Given the description of an element on the screen output the (x, y) to click on. 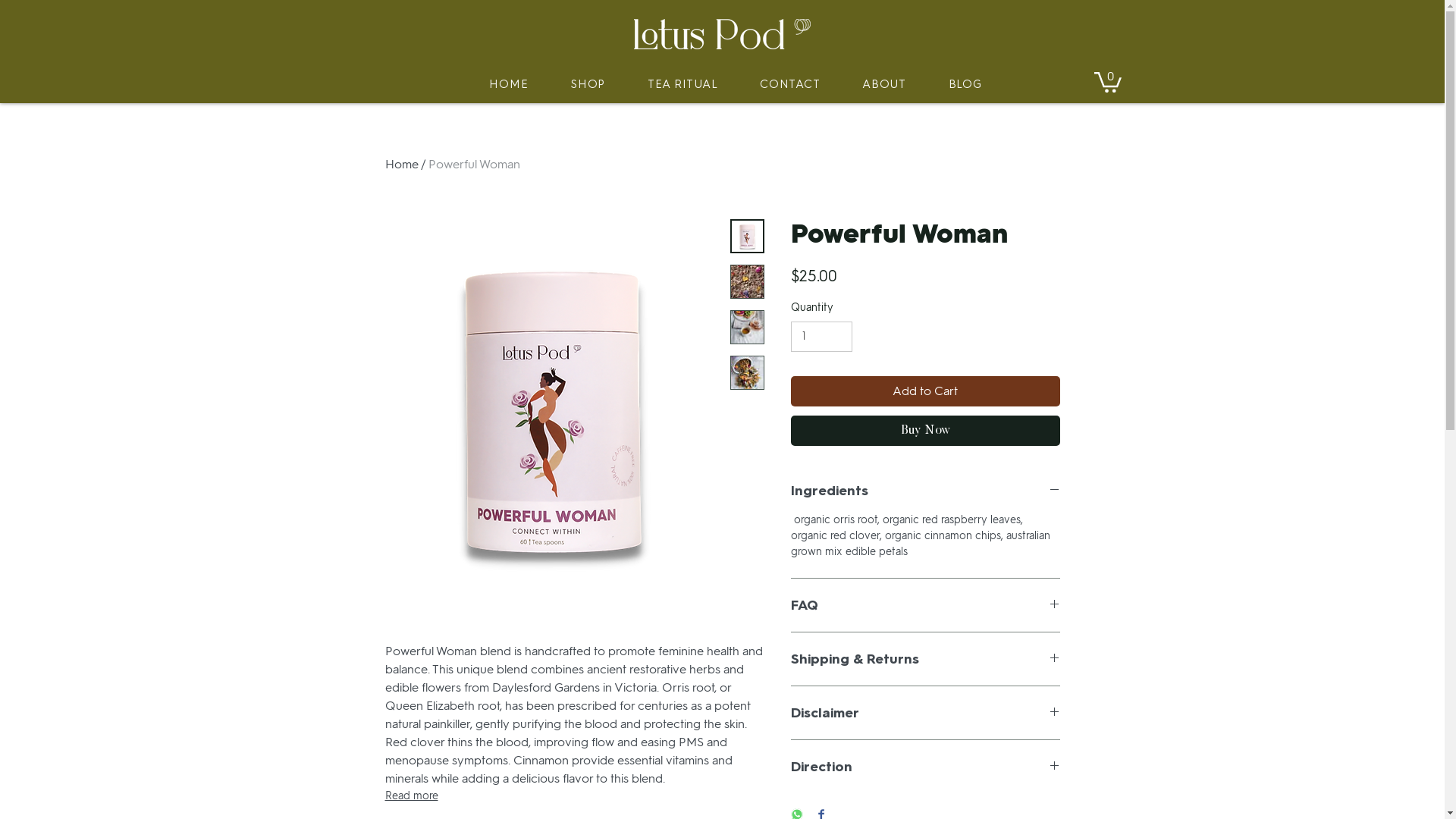
SHOP Element type: text (573, 83)
Add to Cart Element type: text (924, 391)
TEA RITUAL Element type: text (668, 83)
Buy Now Element type: text (924, 430)
Home Element type: text (401, 163)
FAQ Element type: text (924, 604)
Shipping & Returns Element type: text (924, 658)
0 Element type: text (1106, 80)
Read more Element type: text (574, 795)
Ingredients Element type: text (924, 490)
Direction Element type: text (924, 766)
BLOG Element type: text (951, 83)
HOME Element type: text (495, 83)
ABOUT Element type: text (870, 83)
Disclaimer Element type: text (924, 712)
Powerful Woman Element type: text (473, 163)
CONTACT Element type: text (775, 83)
